Given the description of an element on the screen output the (x, y) to click on. 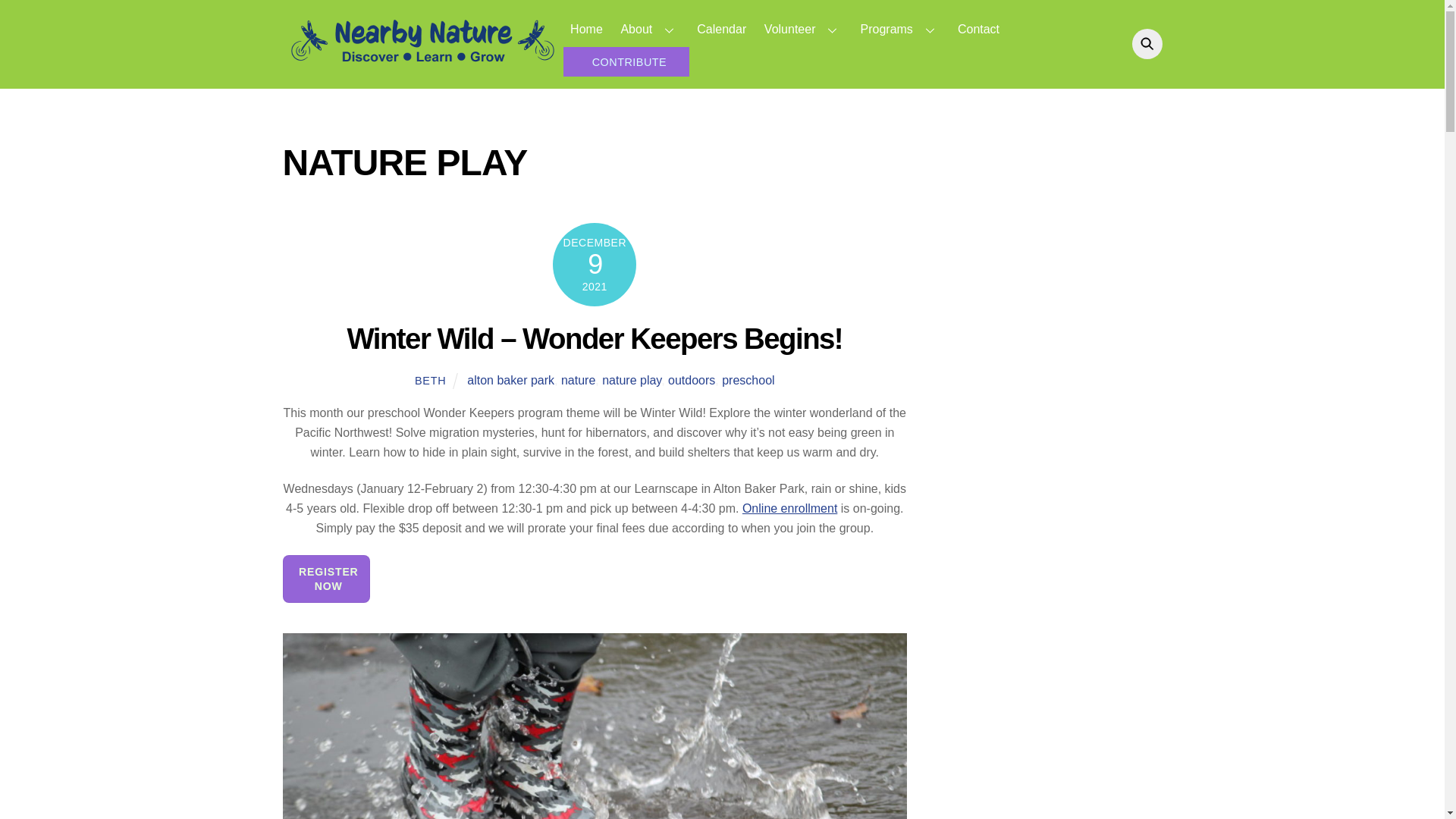
Calendar (722, 29)
Programs (900, 29)
Volunteer (861, 44)
Home (802, 29)
Nearby Nature (586, 29)
About (422, 63)
Search (648, 29)
